Given the description of an element on the screen output the (x, y) to click on. 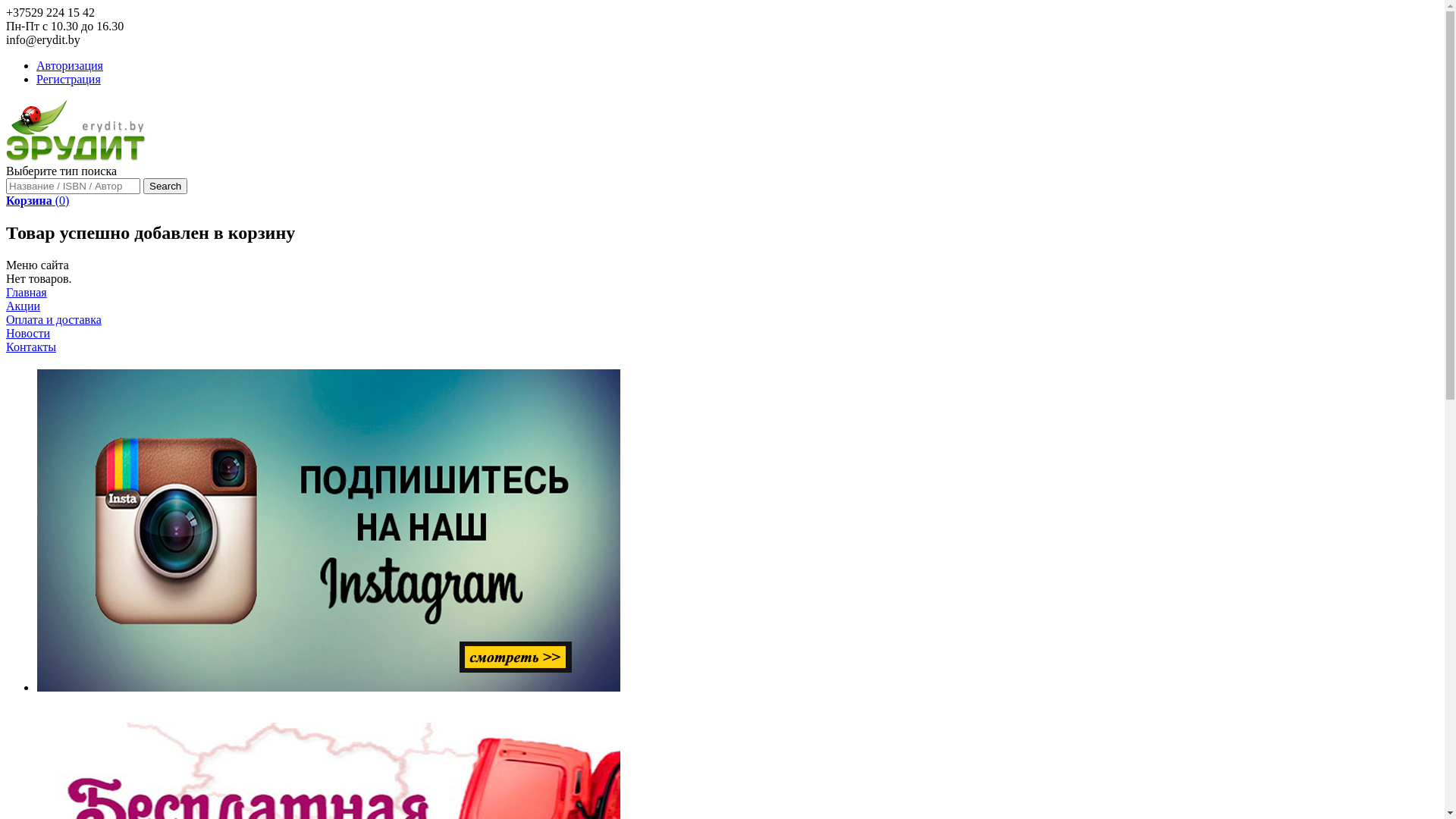
Search Element type: text (165, 186)
